Given the description of an element on the screen output the (x, y) to click on. 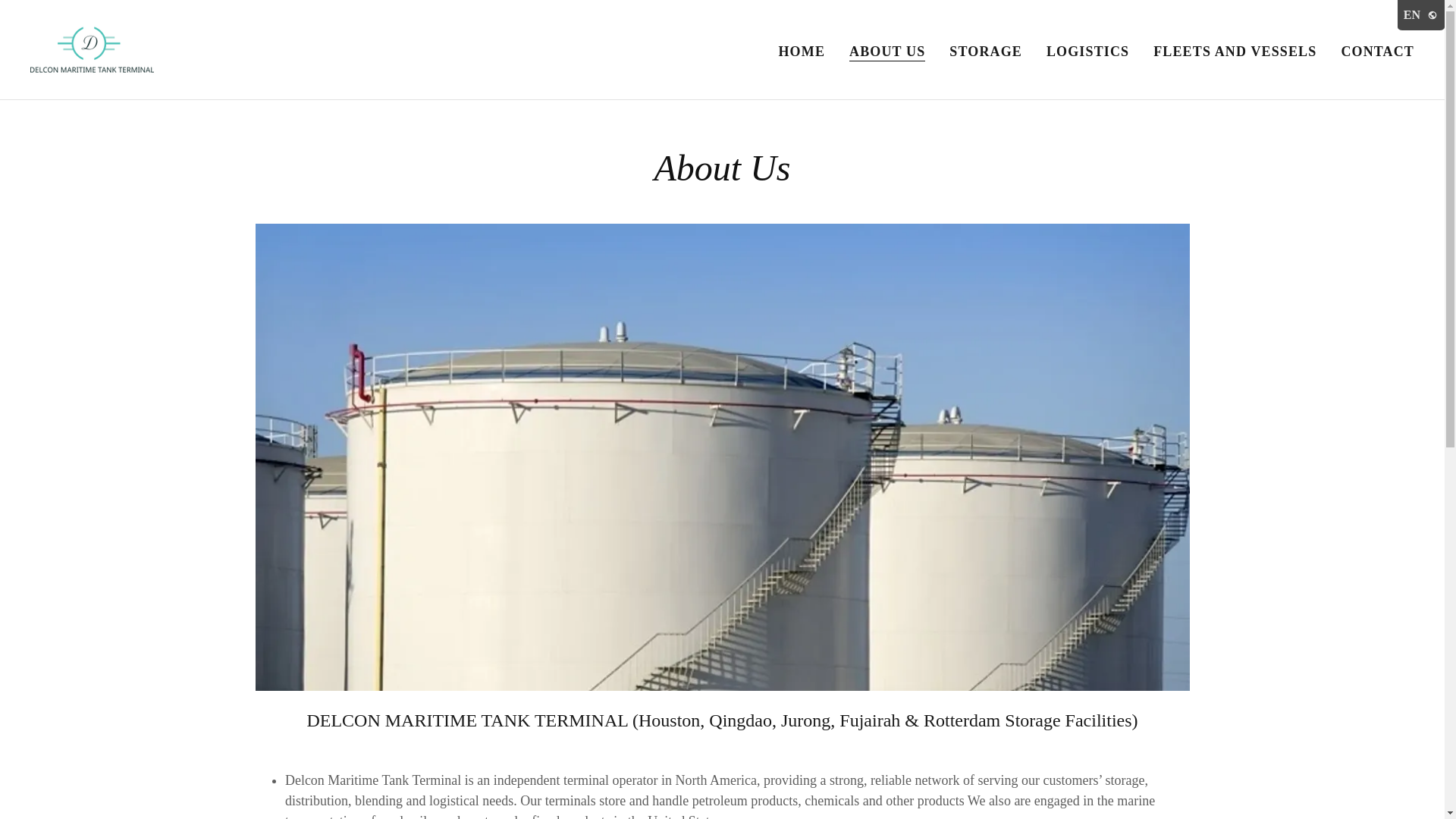
HOME (801, 51)
CONTACT (1377, 51)
LOGISTICS (1088, 51)
ABOUT US (886, 51)
DELCON MARITIME TANK TERMINAL (92, 48)
FLEETS AND VESSELS (1234, 51)
STORAGE (985, 51)
